Given the description of an element on the screen output the (x, y) to click on. 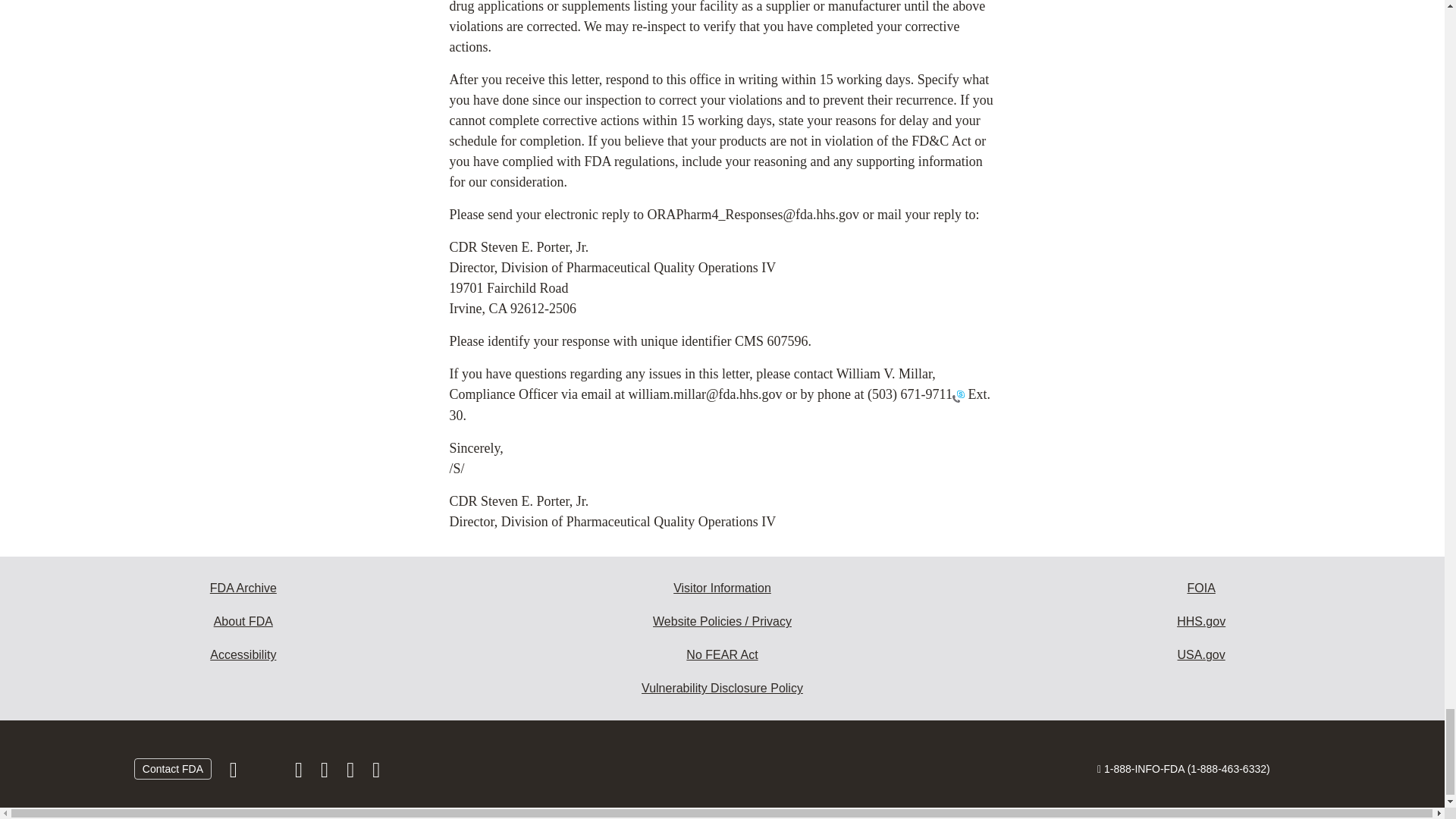
Subscribe to FDA RSS feeds (376, 788)
Follow FDA on X (266, 788)
Health and Human Services (1200, 636)
Freedom of Information Act (1200, 603)
Follow FDA on LinkedIn (326, 788)
Follow FDA on Facebook (234, 788)
Follow FDA on Instagram (299, 788)
View FDA videos on YouTube (352, 788)
